Given the description of an element on the screen output the (x, y) to click on. 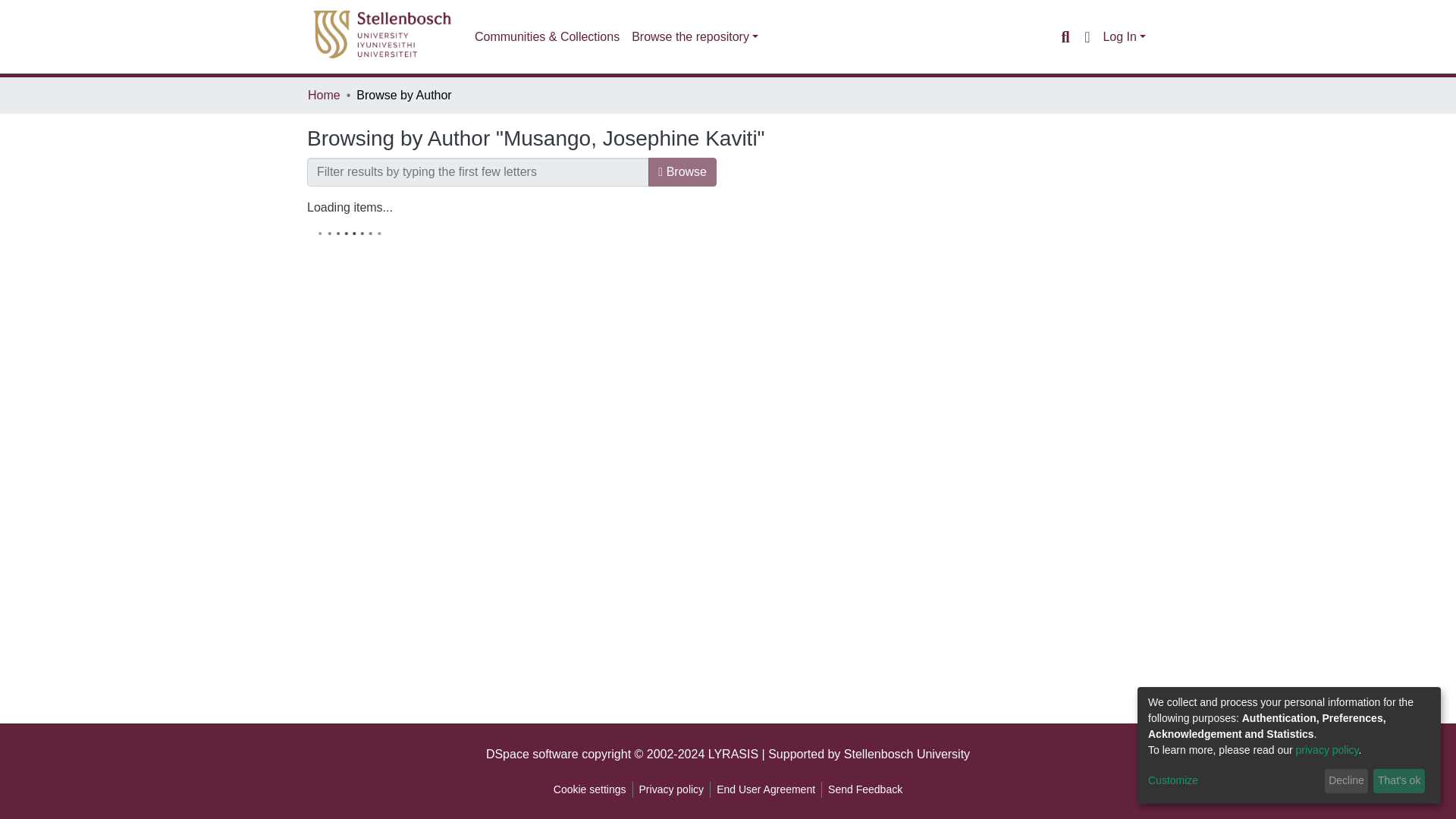
Log In (1123, 36)
Customize (1233, 780)
Stellenbosch University (906, 753)
Browse (681, 172)
Privacy policy (671, 789)
End User Agreement (765, 789)
DSpace software (532, 753)
Decline (1346, 781)
Browse the repository (695, 37)
Cookie settings (589, 789)
Search (1064, 36)
Language switch (1086, 36)
LYRASIS (732, 753)
That's ok (1399, 781)
Home (323, 95)
